Given the description of an element on the screen output the (x, y) to click on. 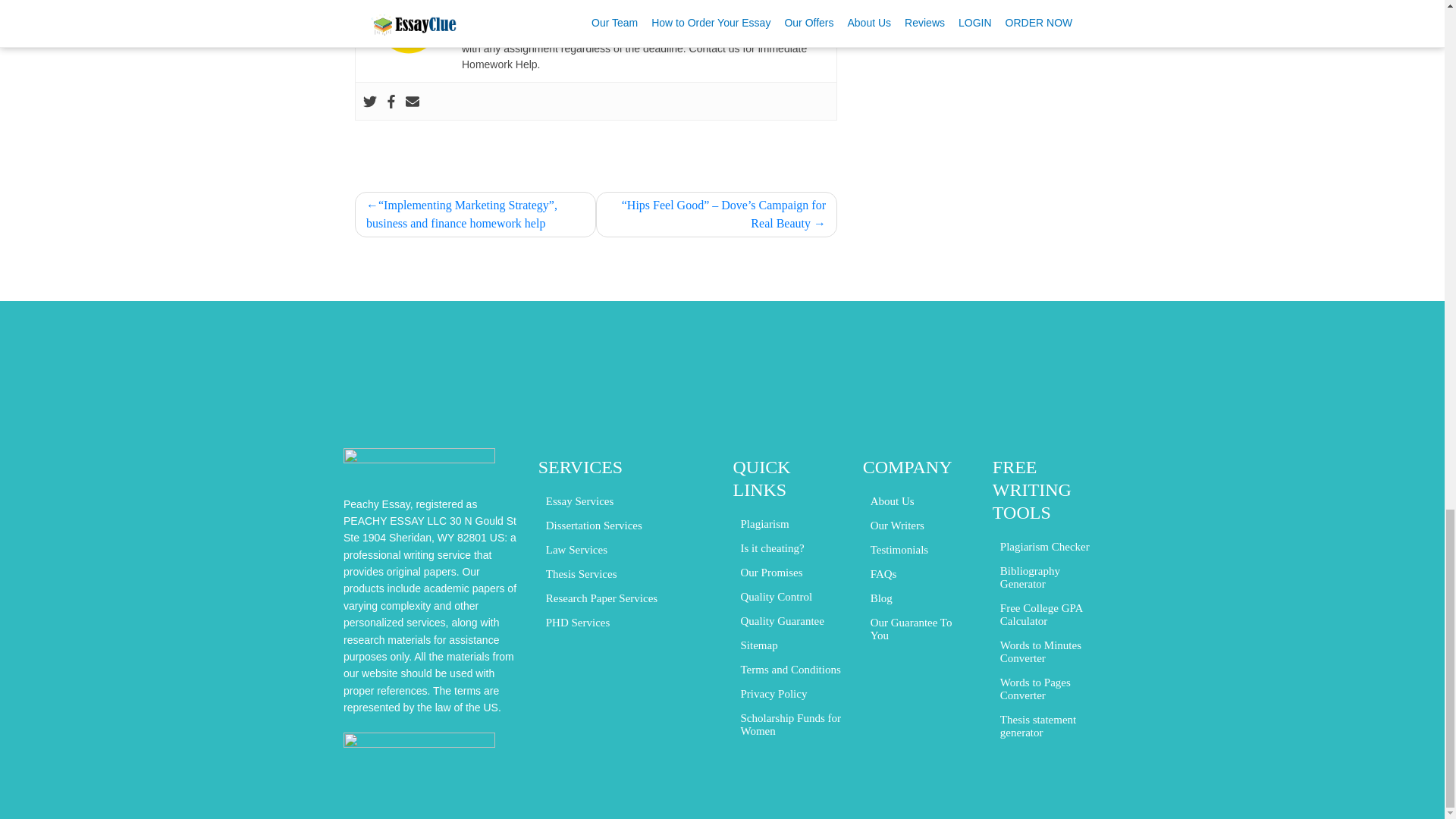
Essay Services (580, 500)
Dissertation Services (594, 525)
Quality Guarantee (781, 620)
User email (412, 100)
Twitter (369, 100)
Our Promises (770, 572)
EssayClue Team (507, 1)
Law Services (576, 549)
Plagiarism (764, 523)
Terms and Conditions (789, 669)
Scholarship Funds for Women (790, 724)
Facebook (390, 100)
Is it cheating? (771, 548)
Sitemap (758, 645)
Research Paper Services (602, 598)
